Given the description of an element on the screen output the (x, y) to click on. 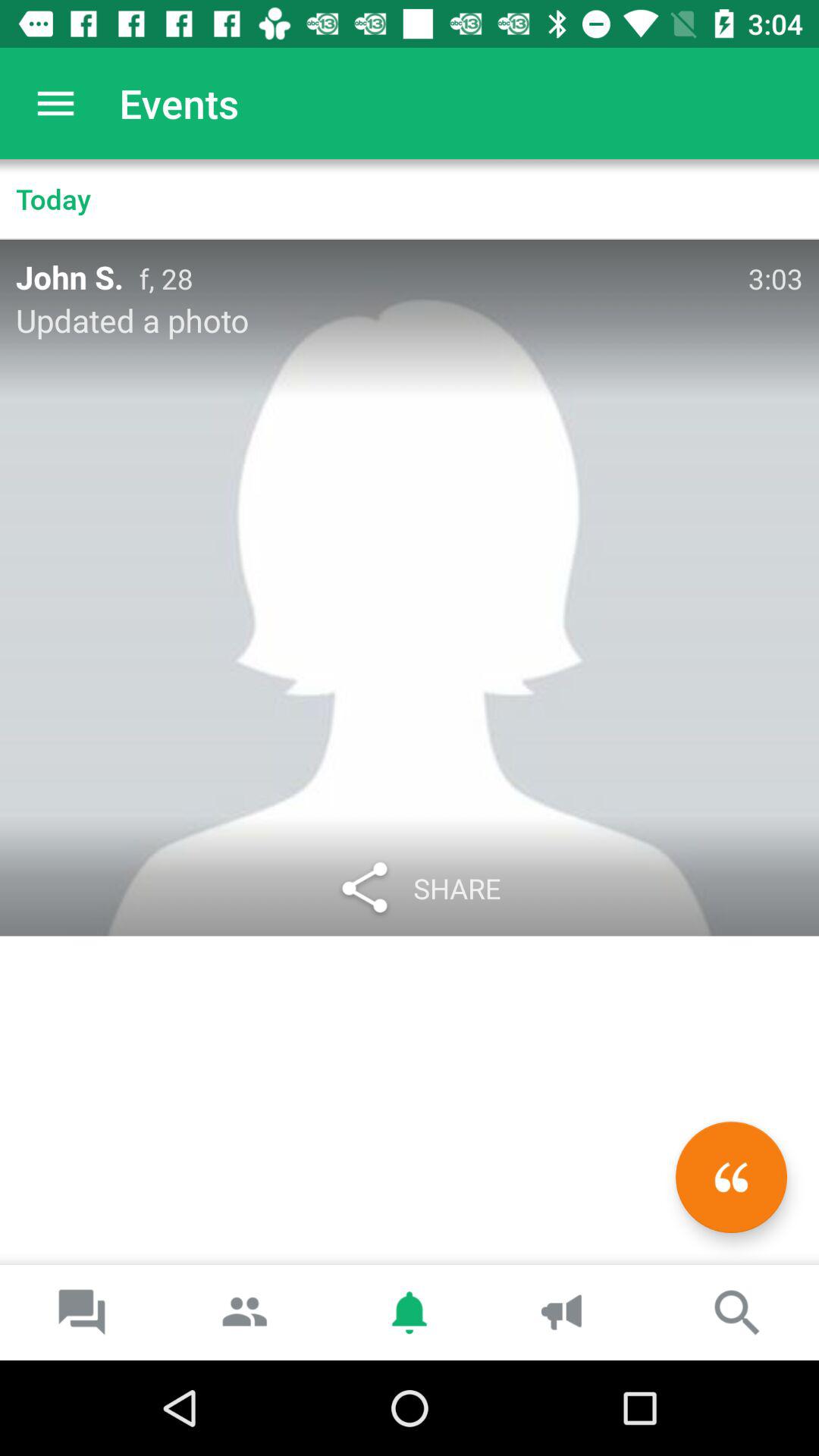
select the item next to events icon (55, 103)
